Given the description of an element on the screen output the (x, y) to click on. 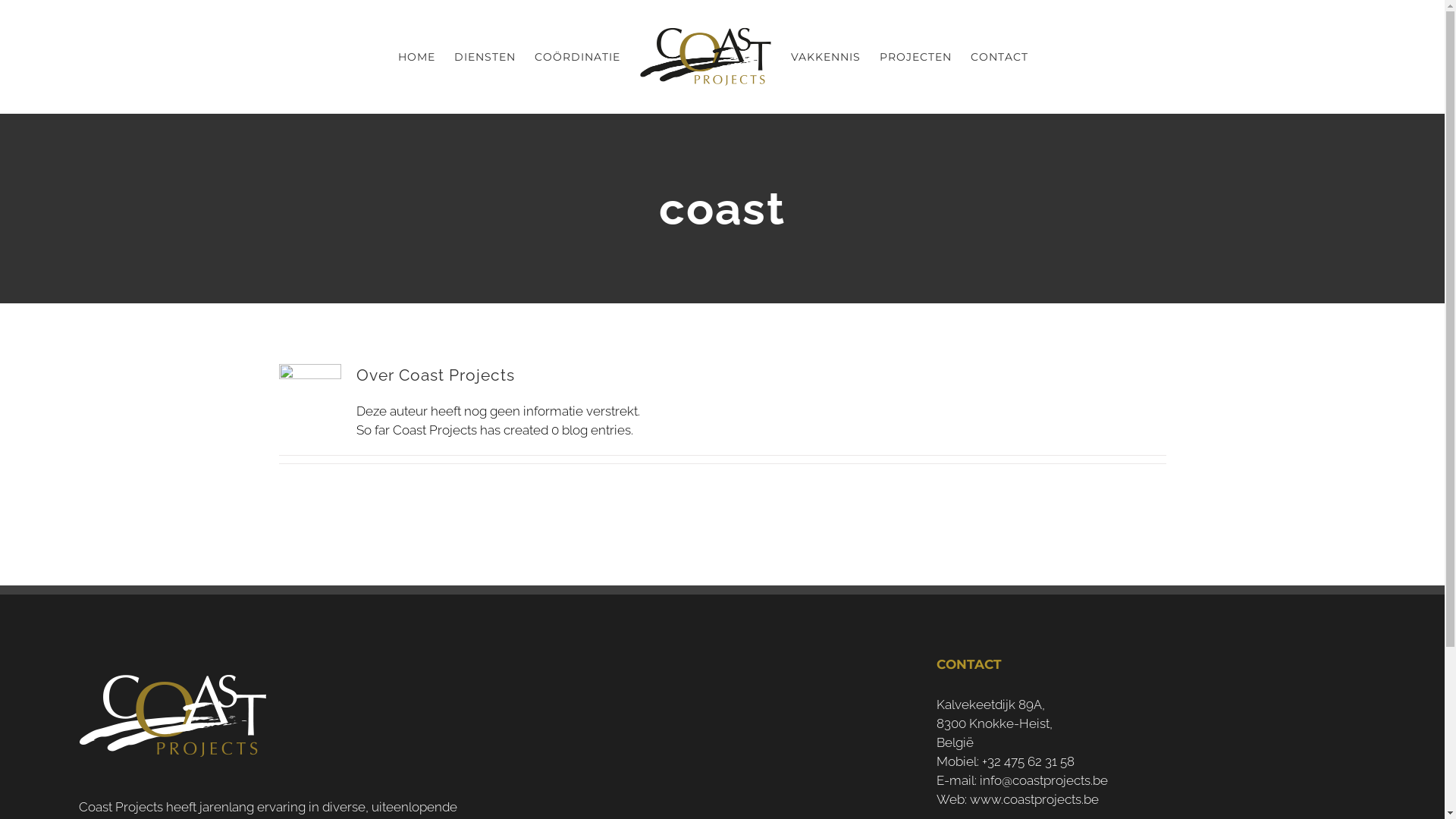
PROJECTEN Element type: text (915, 56)
HOME Element type: text (415, 56)
CONTACT Element type: text (999, 56)
www.coastprojects.be Element type: text (1033, 798)
info@coastprojects.be Element type: text (1043, 779)
DIENSTEN Element type: text (483, 56)
+32 475 62 31 58 Element type: text (1028, 760)
VAKKENNIS Element type: text (824, 56)
